Given the description of an element on the screen output the (x, y) to click on. 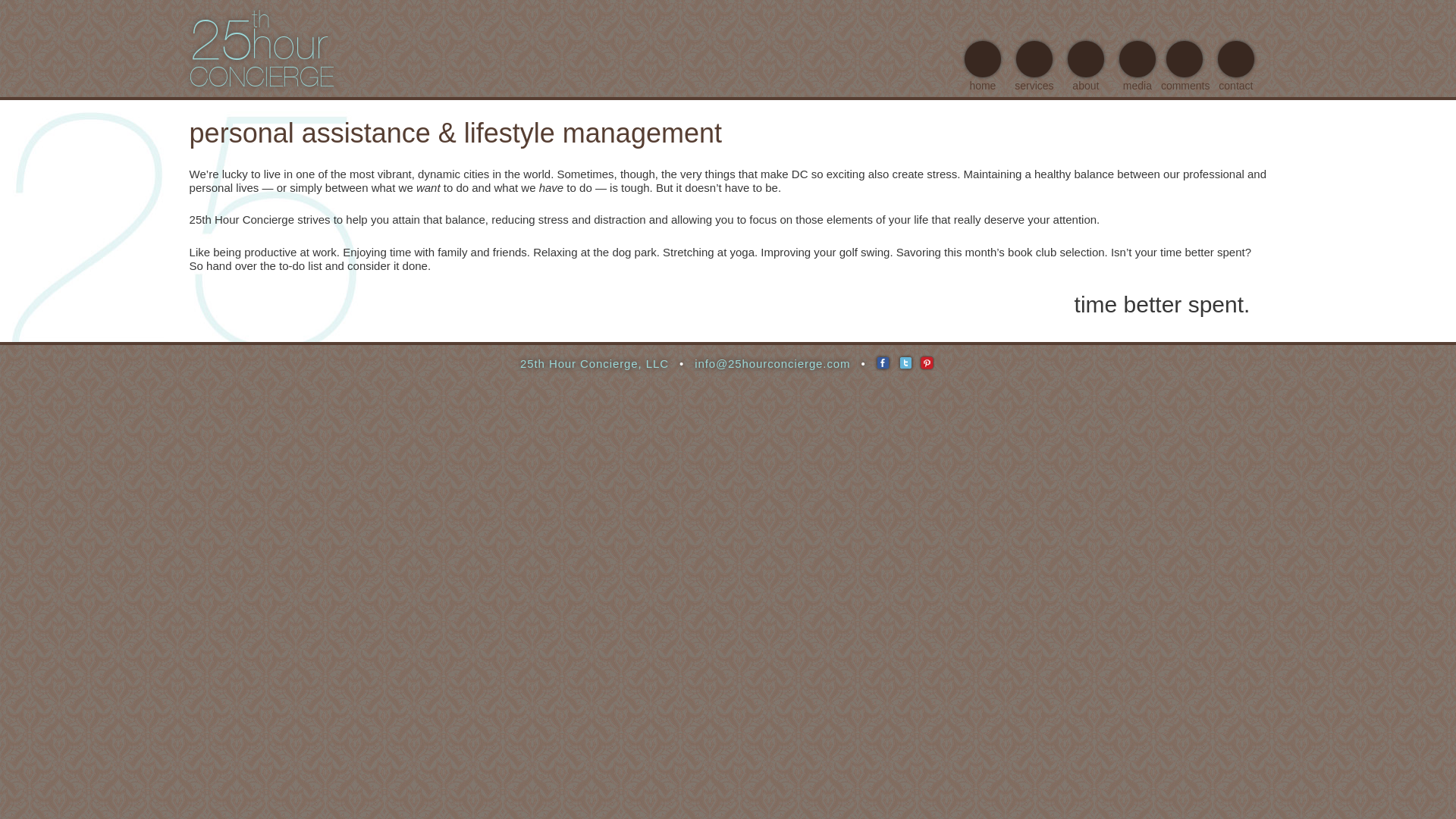
services Element type: text (1033, 65)
contact Element type: text (1235, 65)
skip to secondary content Element type: text (998, 14)
hour Element type: text (288, 43)
media Element type: text (1137, 65)
home Element type: text (982, 65)
th Element type: text (260, 19)
info@25hourconcierge.com Element type: text (772, 363)
about Element type: text (1085, 65)
comments Element type: text (1185, 65)
skip to primary content Element type: text (991, 14)
25 Element type: text (221, 39)
CONCIERGE Element type: text (261, 76)
